Given the description of an element on the screen output the (x, y) to click on. 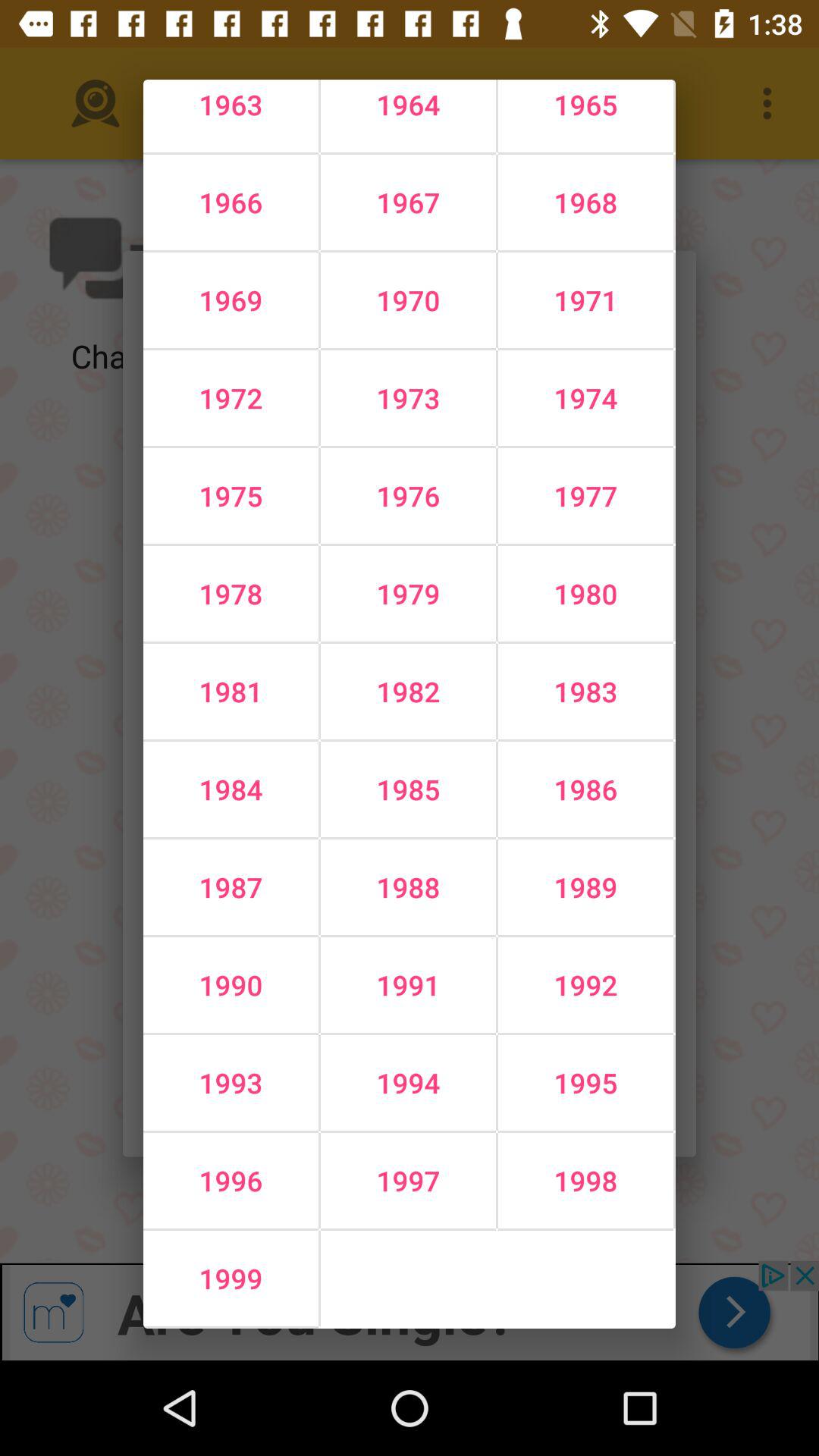
open the icon to the right of the 1976 icon (585, 593)
